Given the description of an element on the screen output the (x, y) to click on. 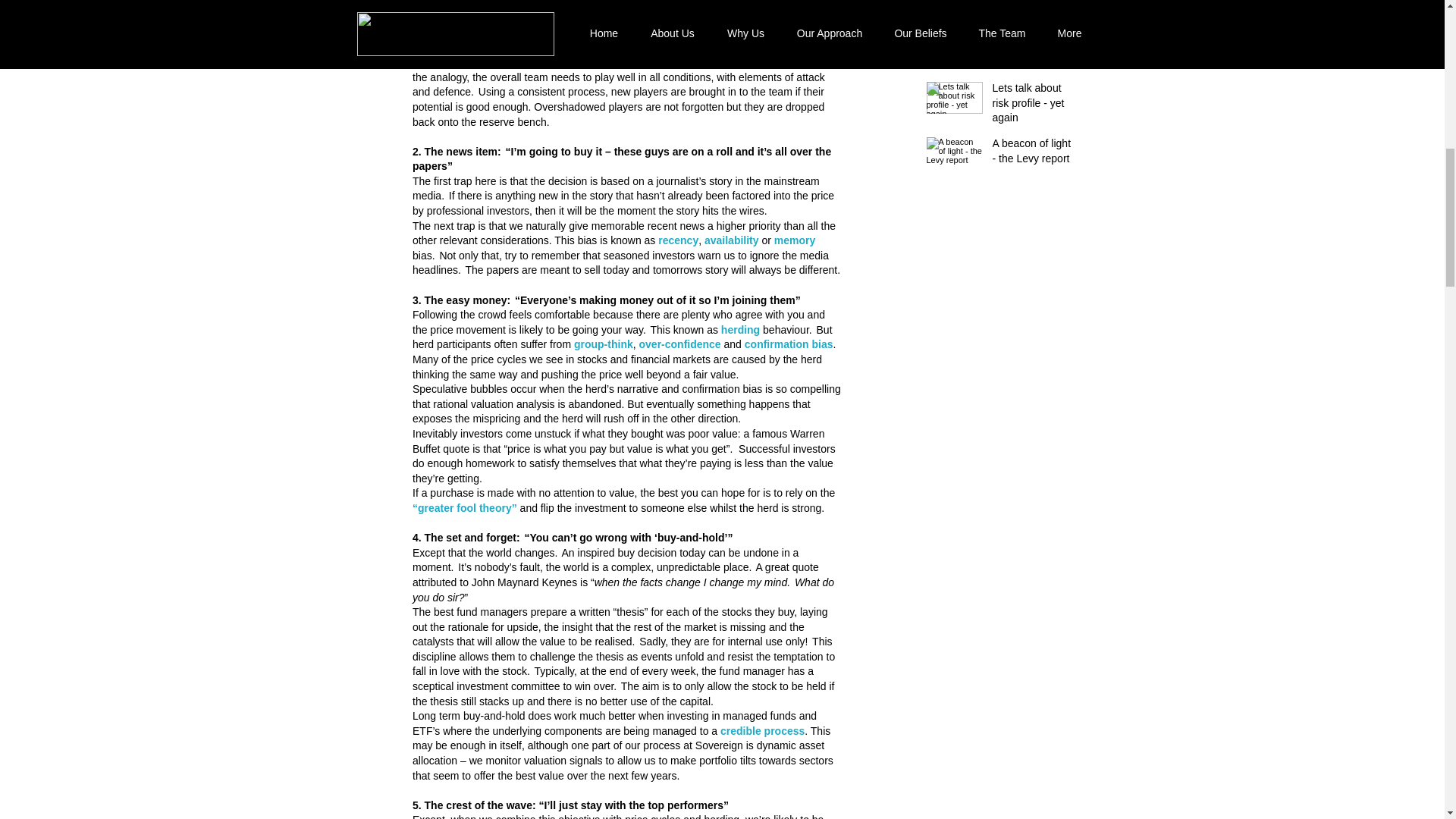
group-think (602, 344)
memory (793, 240)
recency (678, 240)
over-confidence (679, 344)
confirmation bias (788, 344)
herding (739, 329)
availability (730, 240)
